Given the description of an element on the screen output the (x, y) to click on. 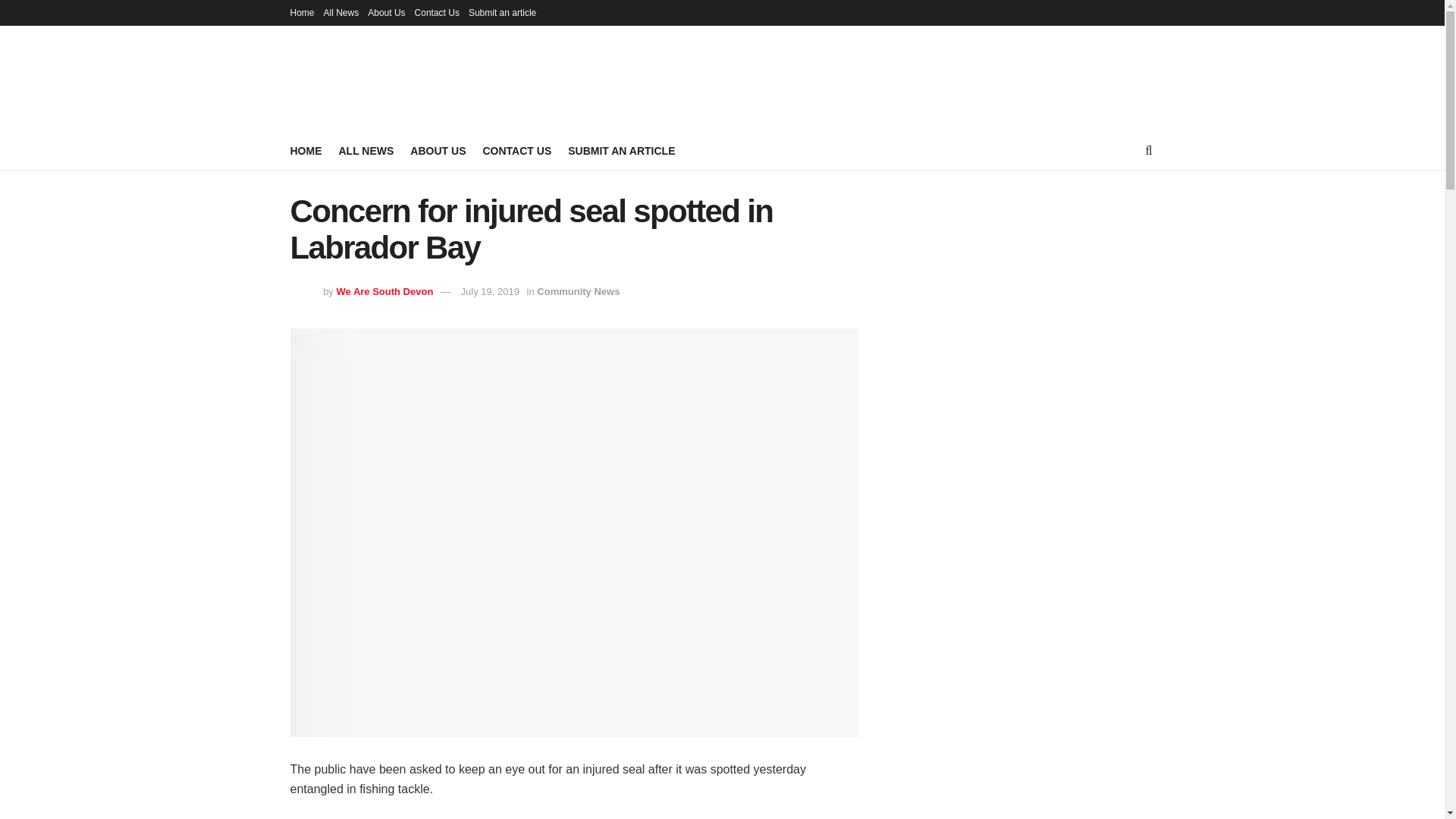
Contact Us (437, 12)
Home (301, 12)
HOME (305, 150)
ABOUT US (437, 150)
CONTACT US (516, 150)
Community News (578, 291)
Submit an article (501, 12)
We Are South Devon (384, 291)
July 19, 2019 (490, 291)
SUBMIT AN ARTICLE (621, 150)
All News (341, 12)
About Us (386, 12)
ALL NEWS (365, 150)
